Given the description of an element on the screen output the (x, y) to click on. 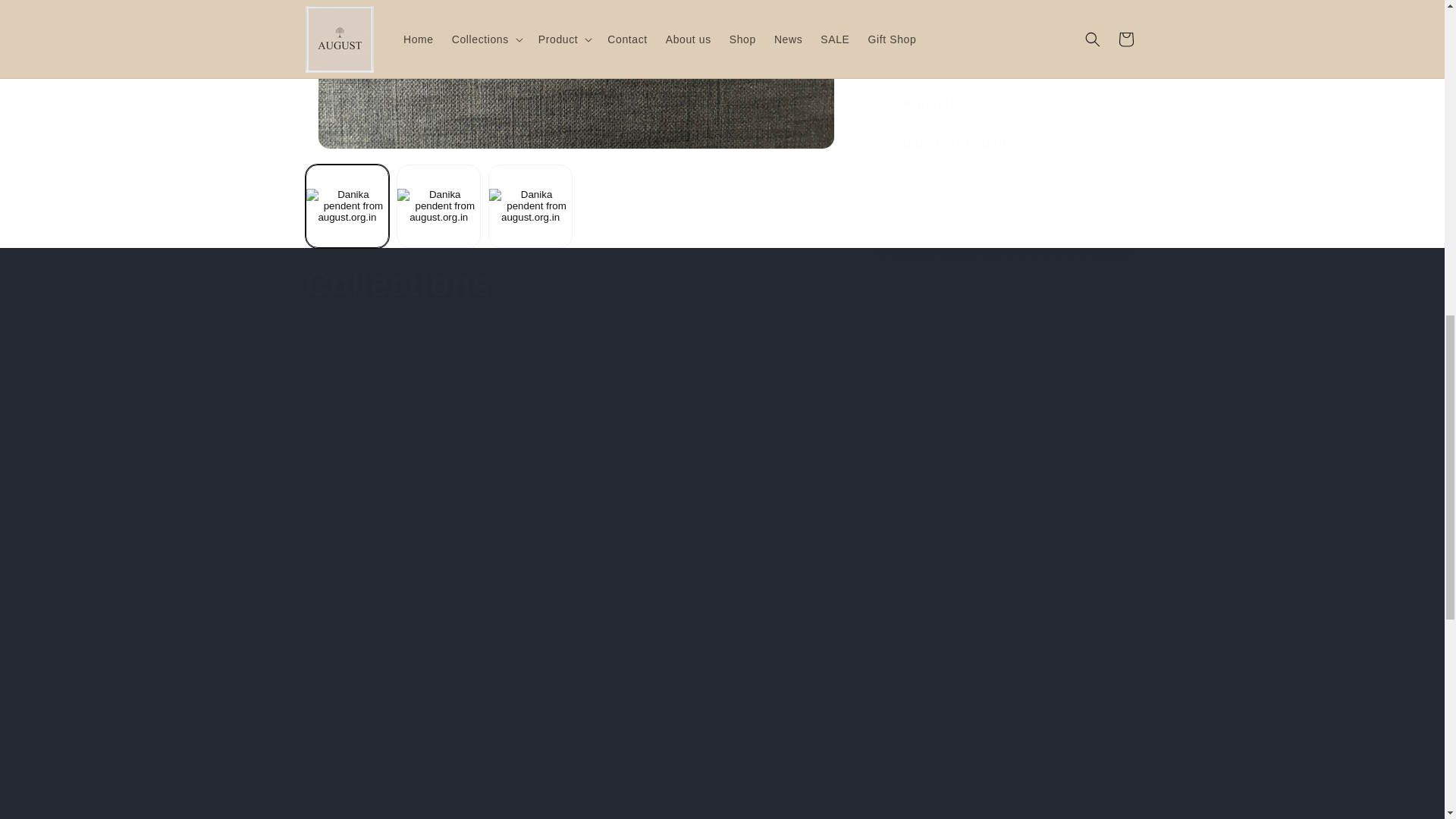
Canisaah Jewellery (617, 708)
Book Beautiful (406, 708)
Collections (396, 283)
Mora (1038, 708)
Living Golf (826, 708)
